Given the description of an element on the screen output the (x, y) to click on. 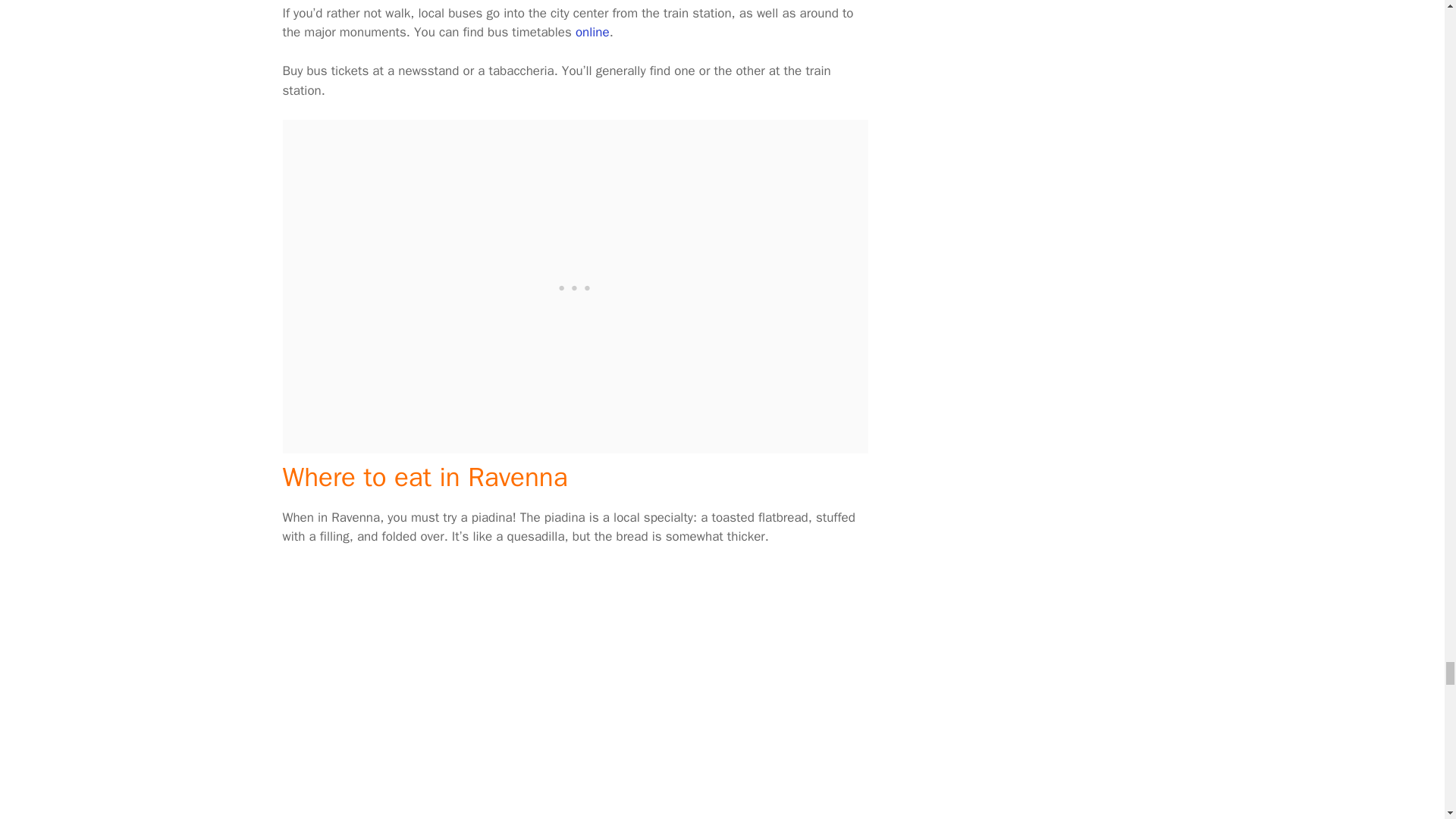
online (592, 32)
